Given the description of an element on the screen output the (x, y) to click on. 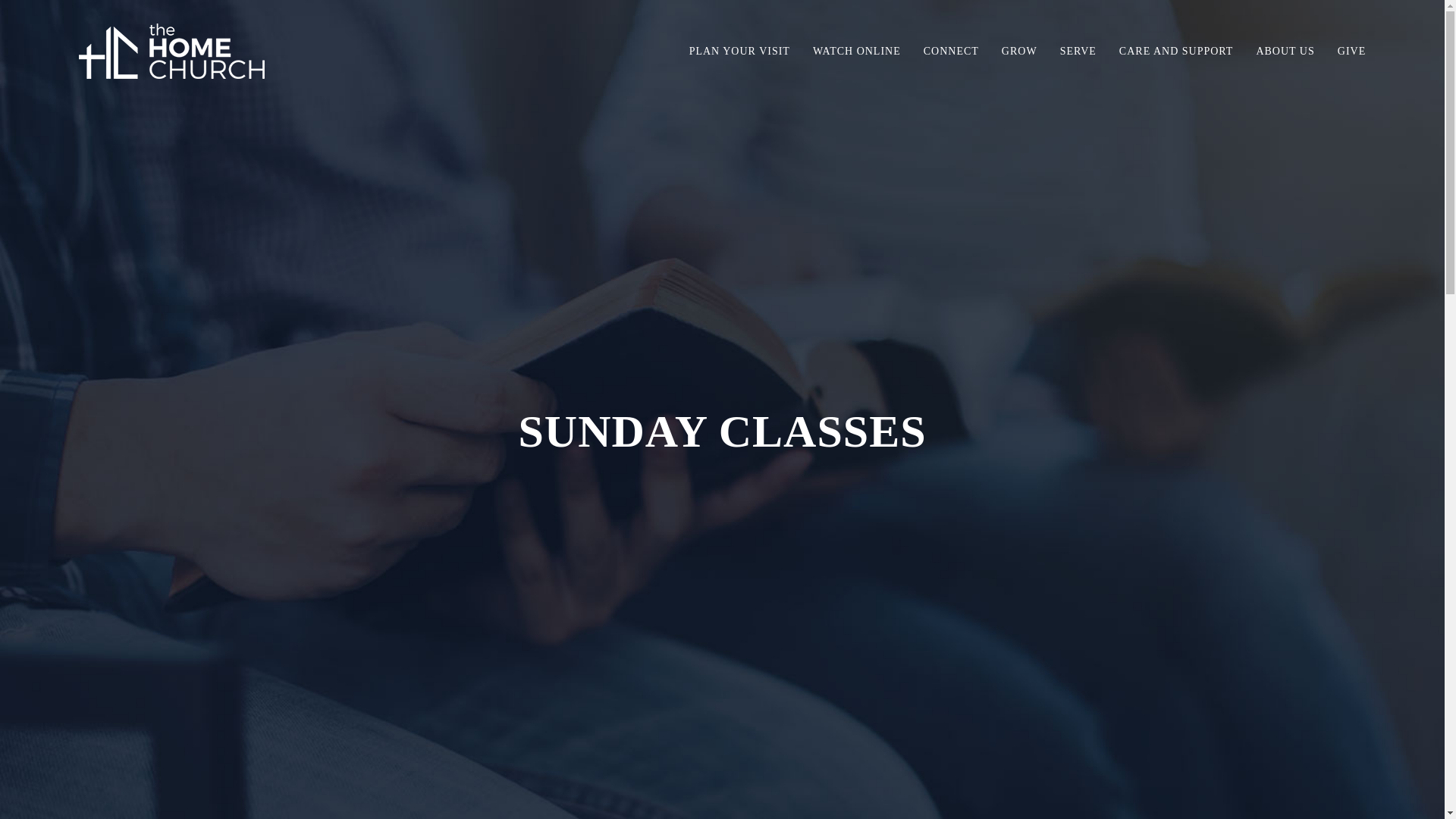
PLAN YOUR VISIT (739, 51)
CARE AND SUPPORT (1176, 51)
GROW (1018, 51)
GIVE (1351, 51)
WATCH ONLINE (856, 51)
CONNECT (950, 51)
SERVE (1077, 51)
ABOUT US (1284, 51)
